Given the description of an element on the screen output the (x, y) to click on. 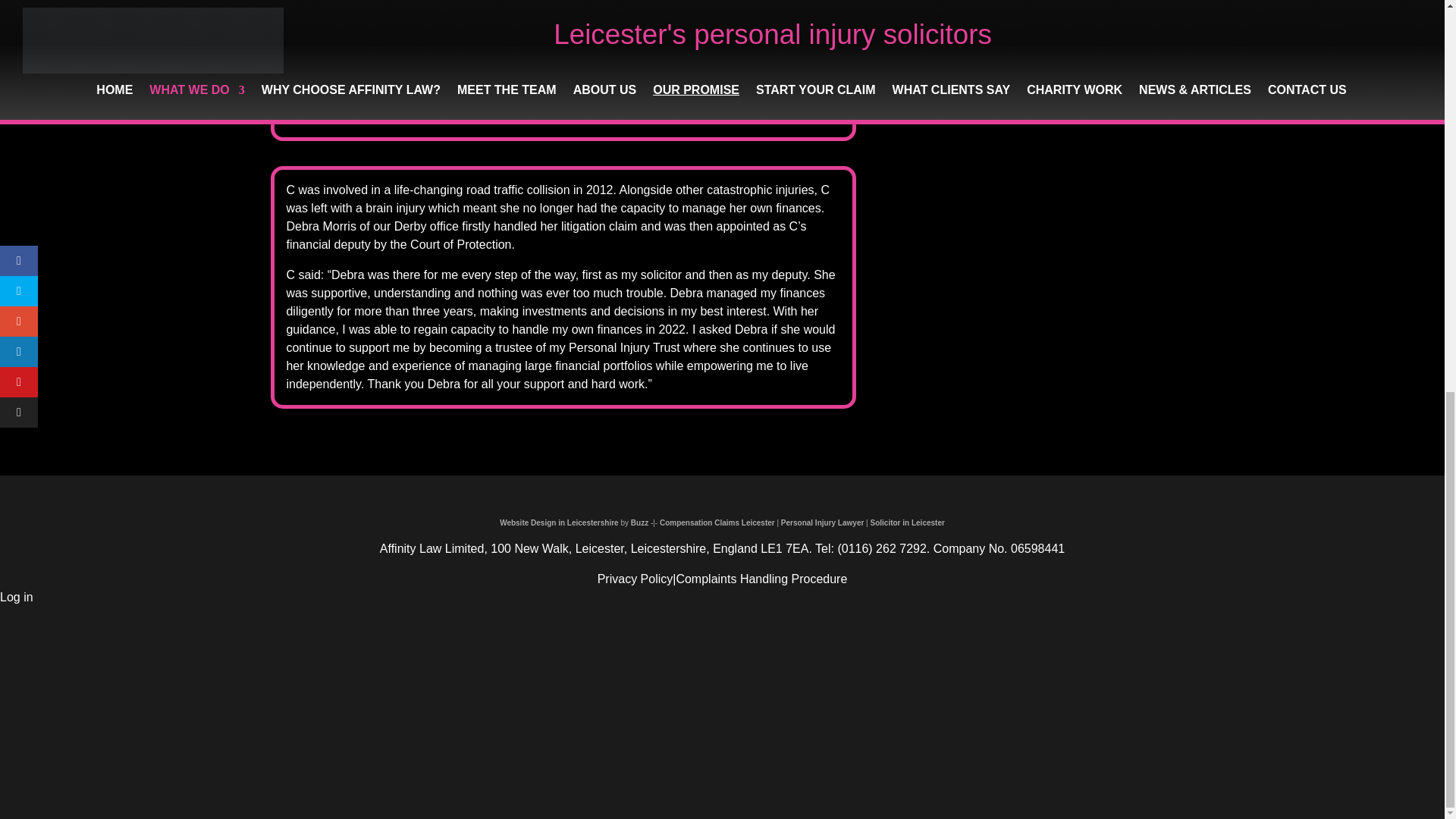
Complaints Handling Procedure (761, 578)
Compensation Claims Leicester (716, 522)
Buzz (638, 522)
Privacy Policy (634, 578)
Website Design in Leicestershire (558, 522)
Website Design in Leicestershire (558, 522)
Personal Injury Lawyer (822, 522)
Log in (16, 596)
Website Design in Leicestershire (638, 522)
Solicitor in Leicester (907, 522)
